Given the description of an element on the screen output the (x, y) to click on. 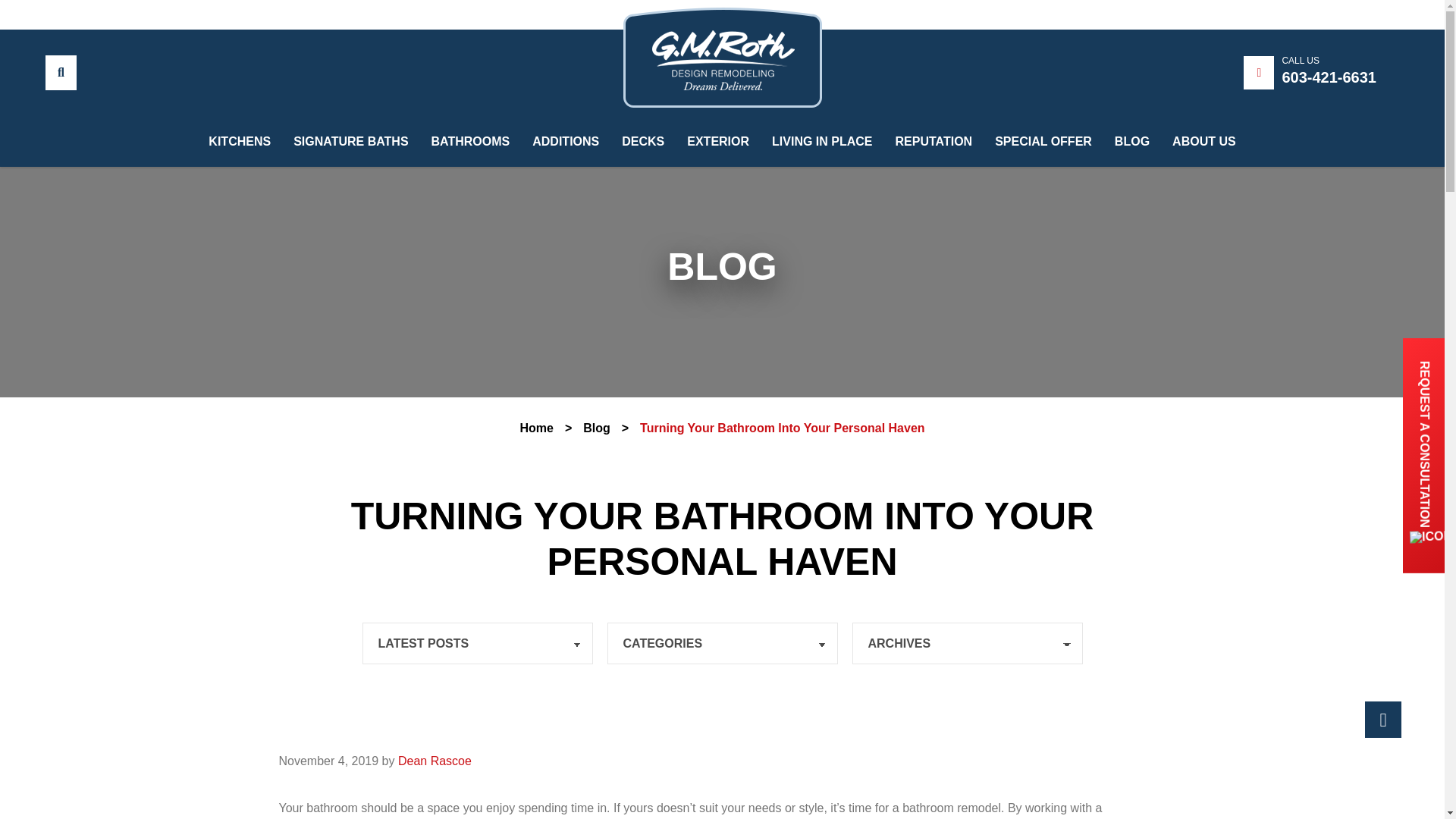
Visit Our Google Business Profile (71, 13)
Visit Our Houzz Page (174, 14)
LIVING IN PLACE (821, 129)
Visit Our Twitter Page (123, 14)
Visit Our Pinterest Page (149, 14)
REPUTATION (933, 133)
G.M. Roth Design Remodeling (722, 57)
Visit Our Instagram Page (97, 13)
EXTERIOR (718, 115)
